Given the description of an element on the screen output the (x, y) to click on. 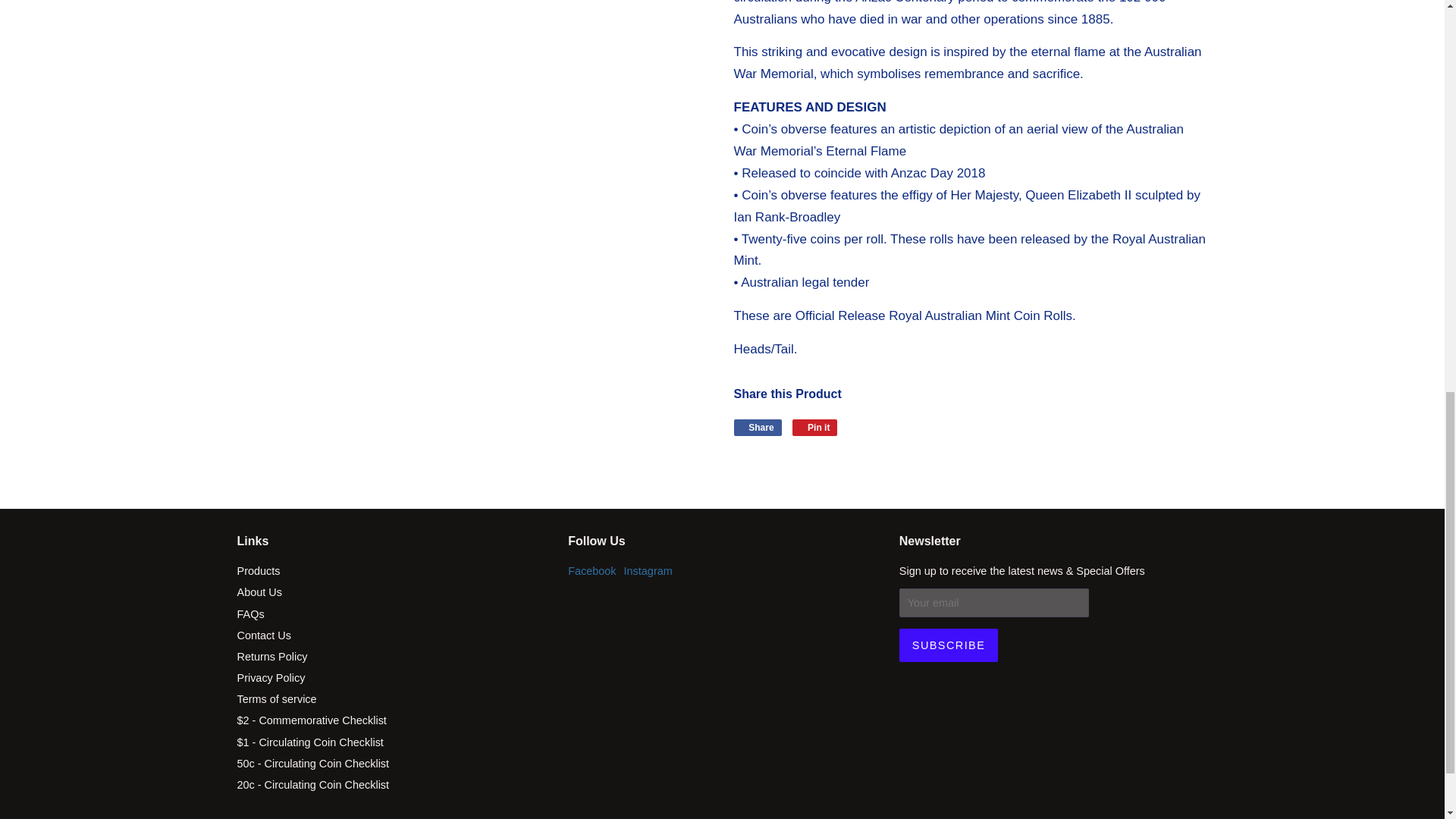
Subscribe (948, 644)
Australian Specialty Coins on Instagram (648, 571)
Pin on Pinterest (814, 427)
Share on Facebook (757, 427)
Australian Specialty Coins on Facebook (591, 571)
